Given the description of an element on the screen output the (x, y) to click on. 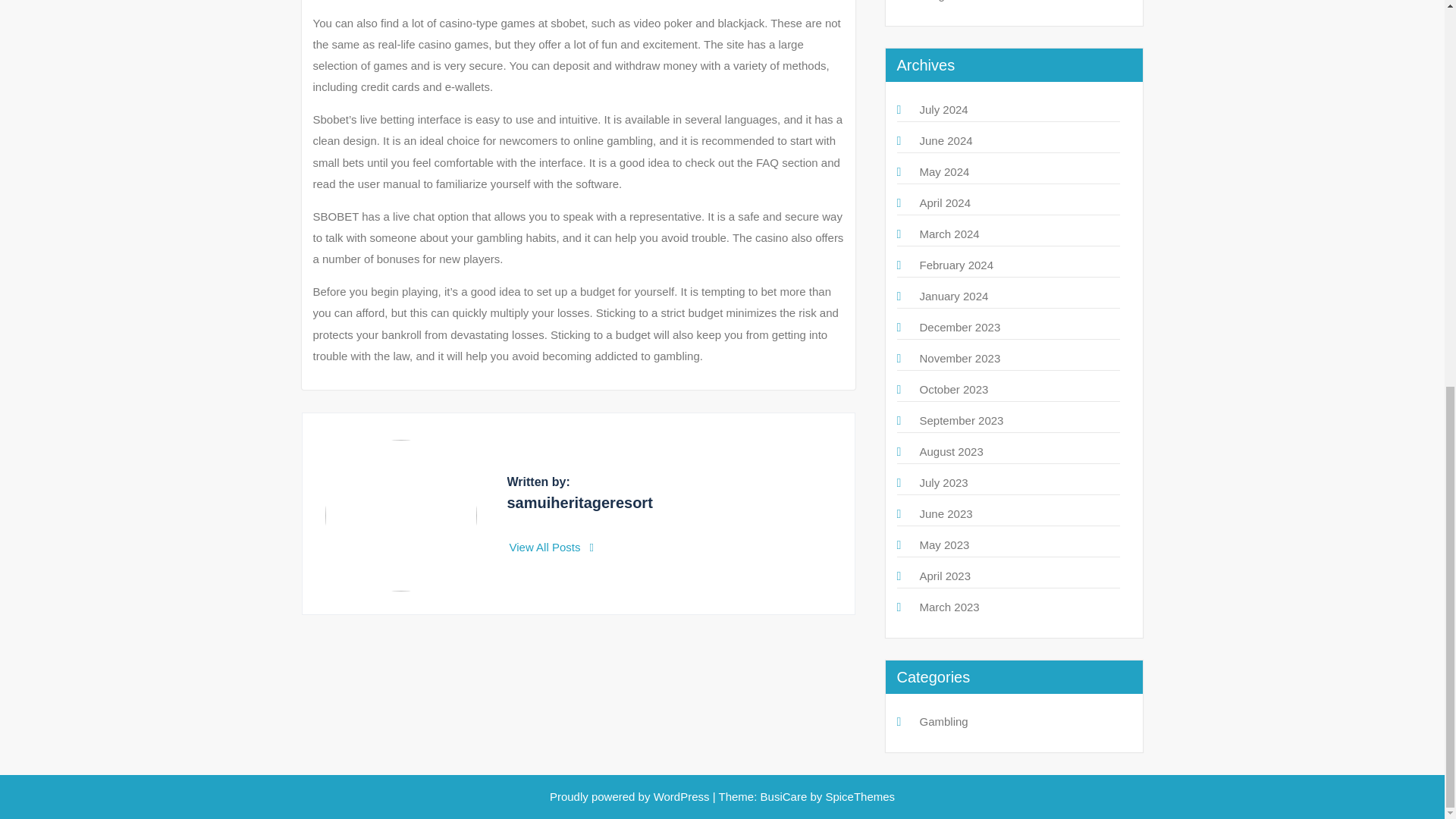
March 2023 (948, 606)
SpiceThemes (858, 796)
October 2023 (953, 389)
January 2024 (953, 295)
WordPress (681, 796)
Gambling (943, 721)
July 2023 (943, 481)
April 2023 (944, 575)
February 2024 (955, 264)
September 2023 (960, 420)
BusiCare (785, 796)
April 2024 (944, 202)
November 2023 (959, 358)
June 2023 (945, 513)
